Given the description of an element on the screen output the (x, y) to click on. 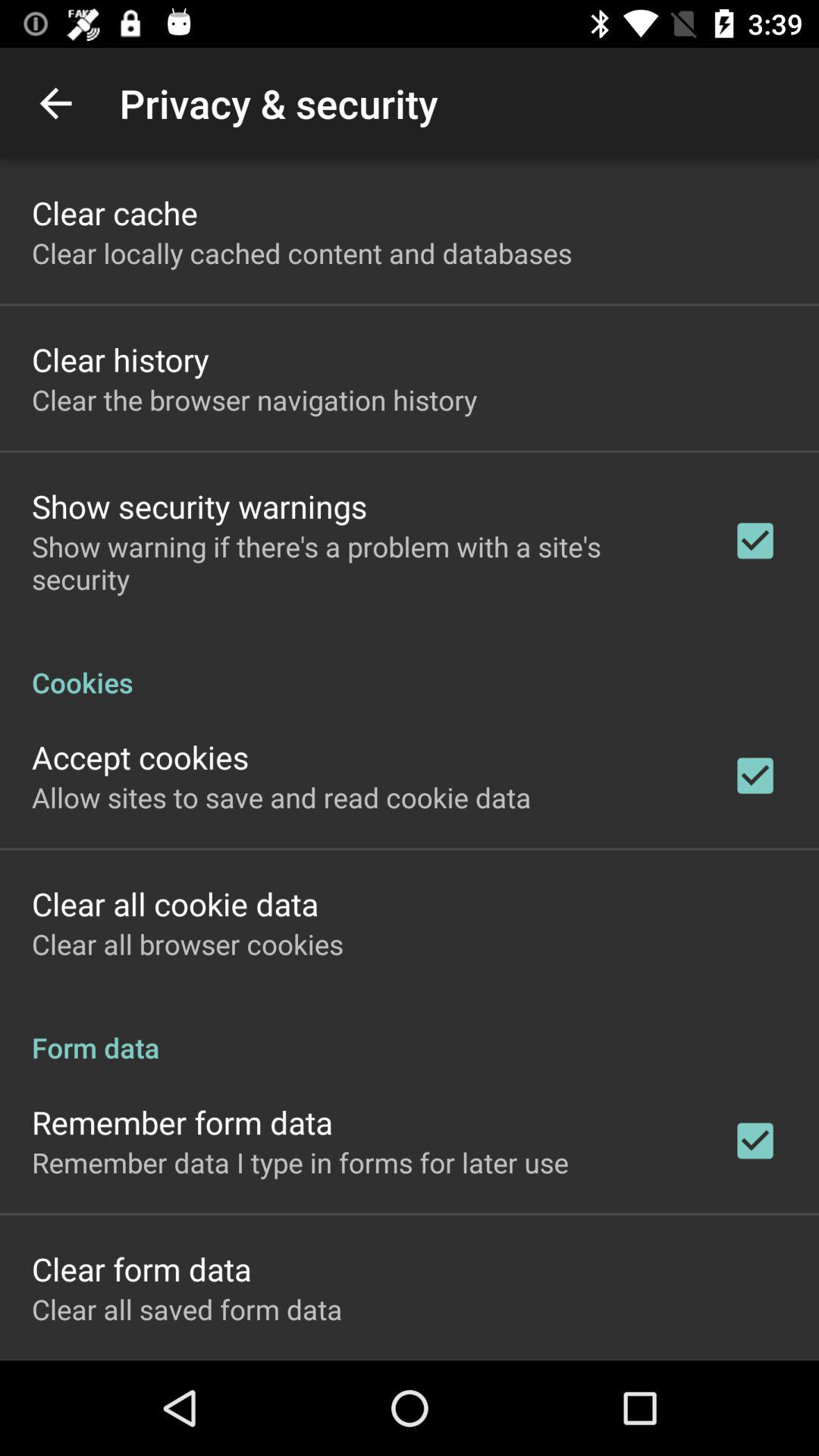
select icon below the cookies icon (140, 756)
